Given the description of an element on the screen output the (x, y) to click on. 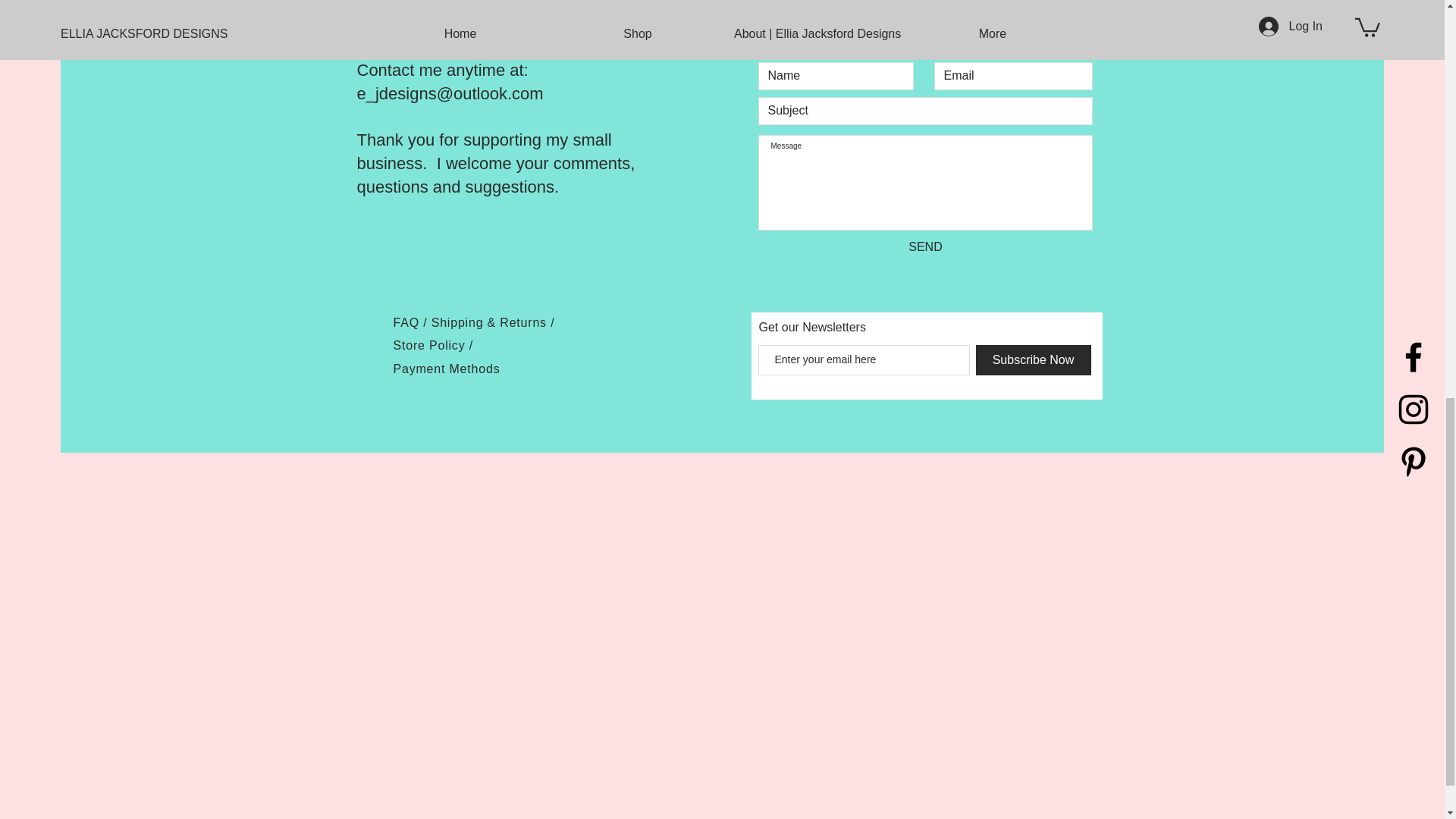
Subscribe Now (1032, 359)
Payment Methods (446, 368)
Store Policy  (430, 345)
SEND (925, 246)
